Given the description of an element on the screen output the (x, y) to click on. 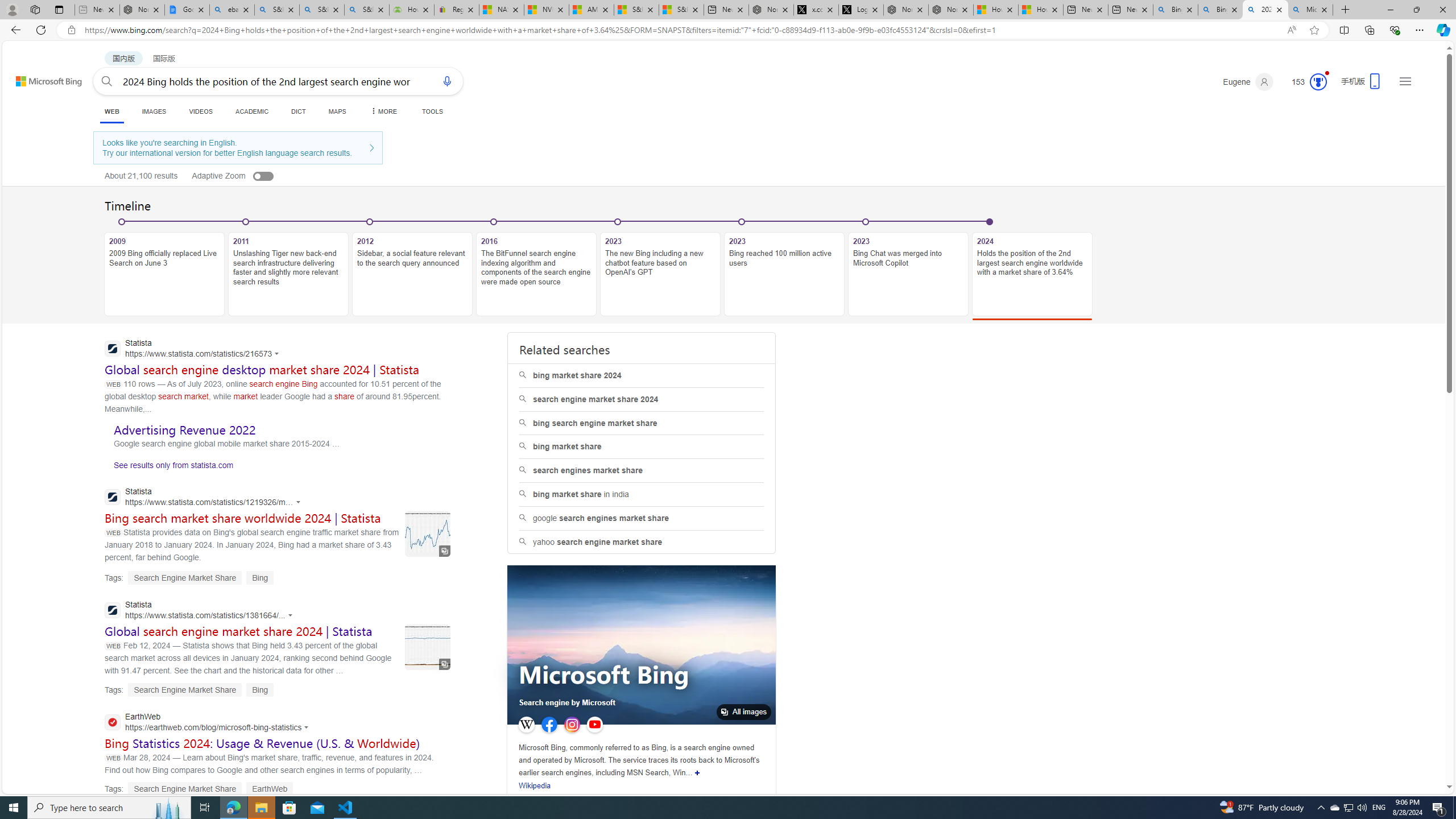
IMAGES (153, 111)
EarthWeb (209, 723)
Global search engine market share 2024 | Statista (238, 631)
DICT (298, 111)
Google Docs: Online Document Editor | Google Workspace (187, 9)
All images (743, 712)
Statista (201, 611)
Show more (697, 772)
MAPS (336, 111)
S&P 500, Nasdaq end lower, weighed by Nvidia dip | Watch (681, 9)
Bing AI - Search (1220, 9)
